Given the description of an element on the screen output the (x, y) to click on. 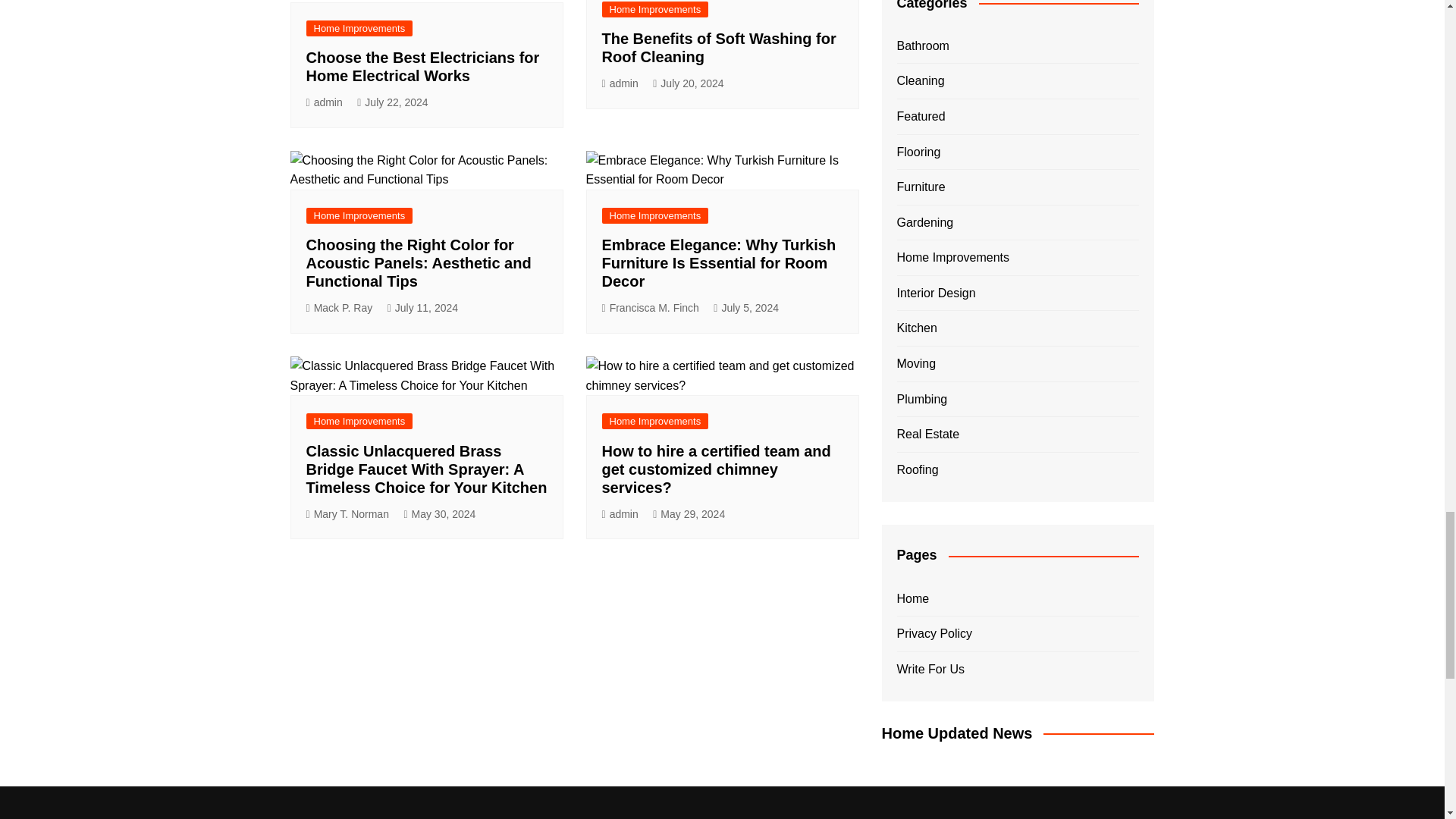
The Benefits of Soft Washing for Roof Cleaning (718, 47)
Home Improvements (655, 9)
July 22, 2024 (392, 102)
admin (323, 102)
Choose the Best Electricians for Home Electrical Works (422, 66)
Home Improvements (359, 28)
